Given the description of an element on the screen output the (x, y) to click on. 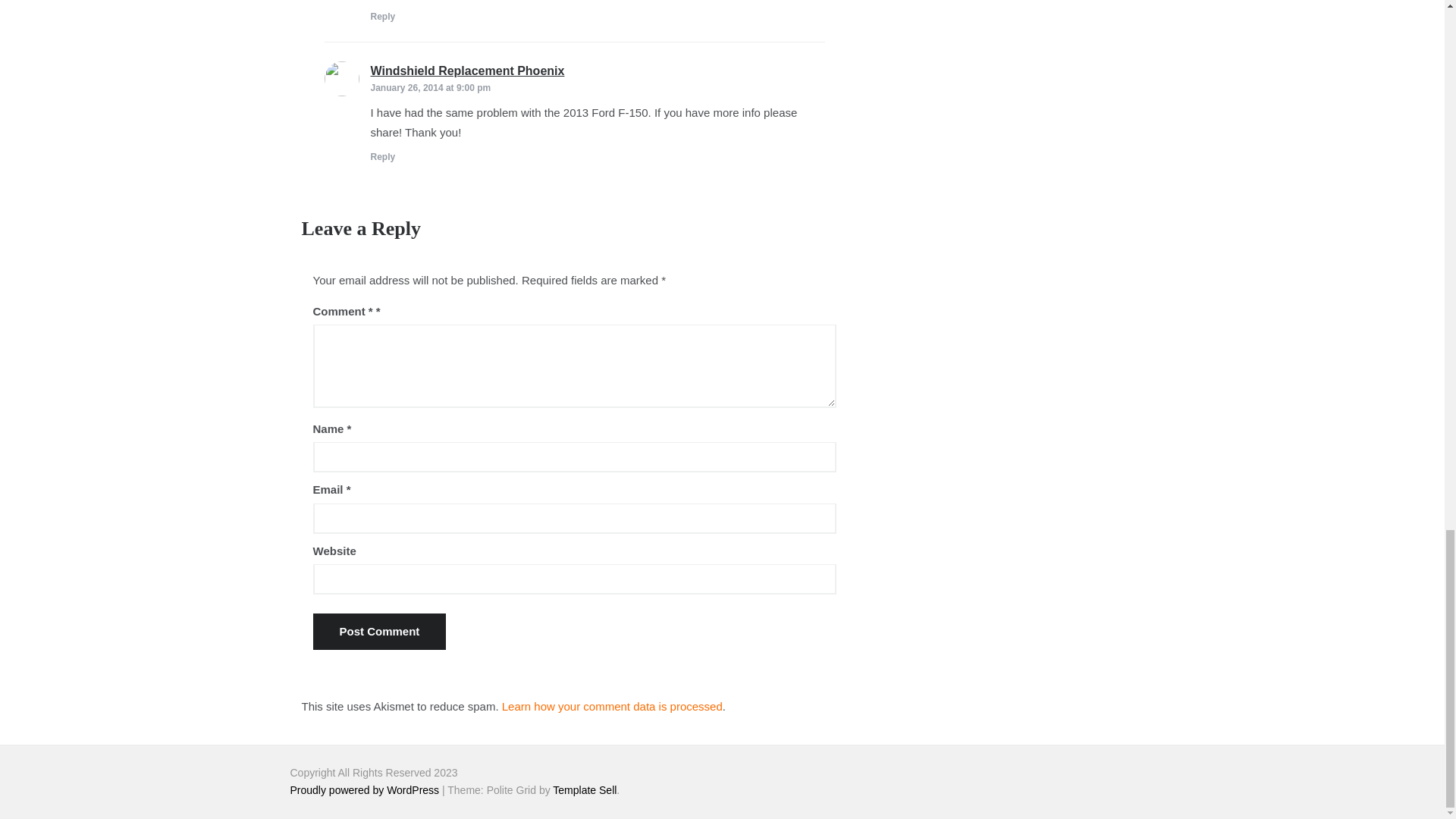
Windshield Replacement Phoenix (466, 70)
Reply (381, 156)
January 26, 2014 at 9:00 pm (429, 87)
Reply (381, 16)
Learn how your comment data is processed (612, 706)
Post Comment (379, 631)
Post Comment (379, 631)
